Given the description of an element on the screen output the (x, y) to click on. 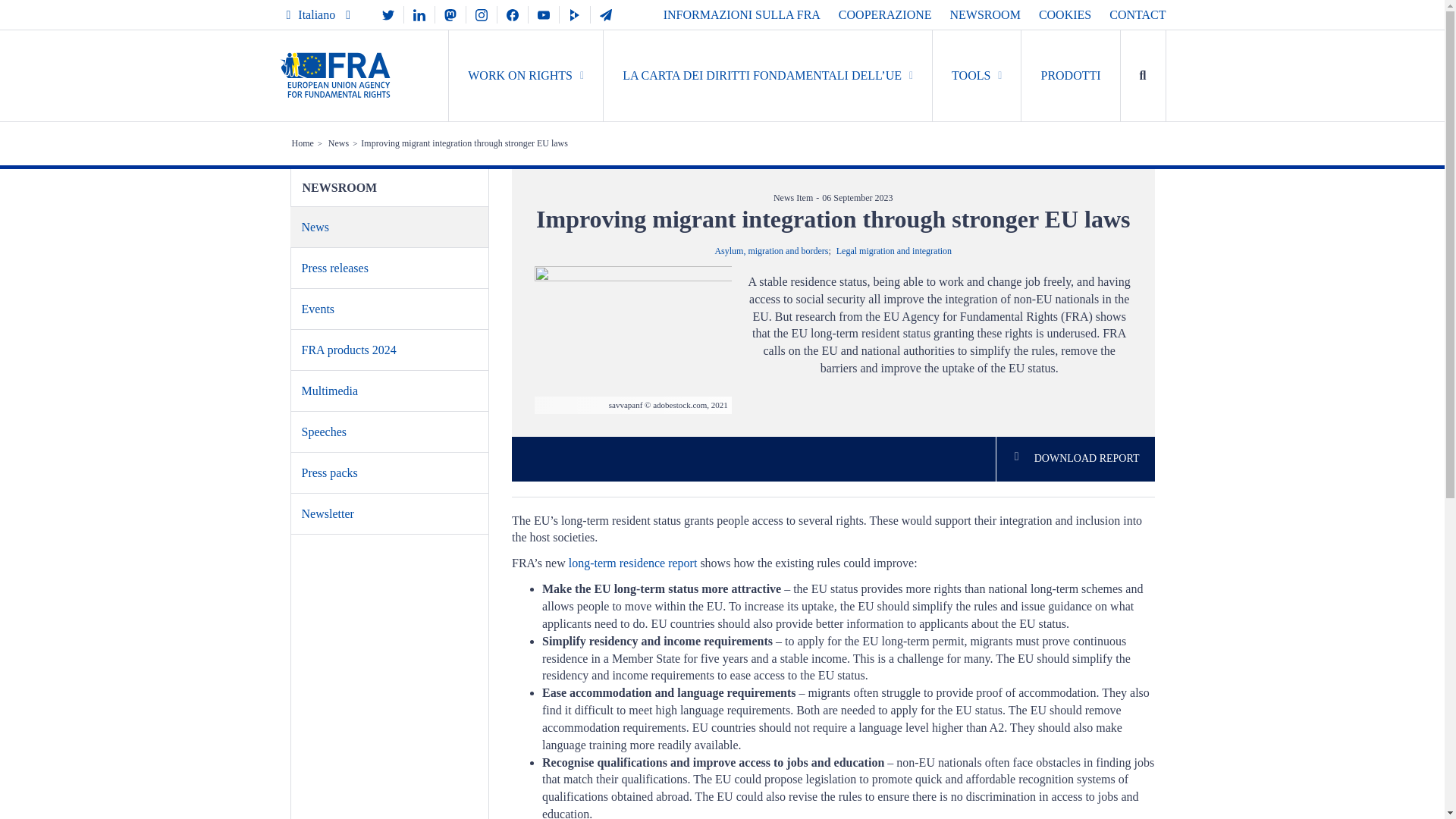
FRA's YouTube channel (543, 13)
INFORMAZIONI SULLA FRA (742, 14)
Italiano (318, 14)
Mastodon (450, 13)
COOKIES (1064, 14)
Facebook (512, 13)
Subscribe to FRA's newsletter (606, 13)
COOPERAZIONE (884, 14)
FRA's LinkedIn channel (418, 13)
